Given the description of an element on the screen output the (x, y) to click on. 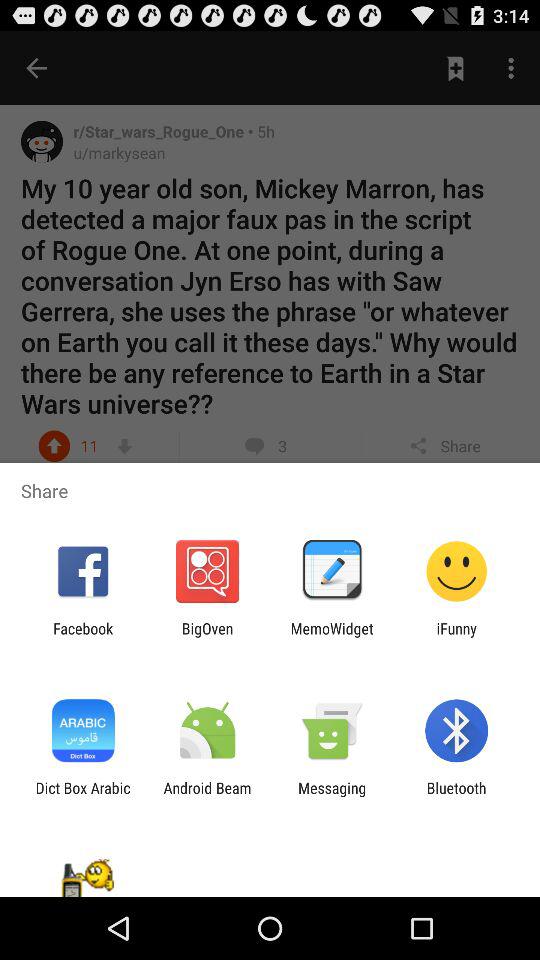
open icon to the right of facebook icon (207, 637)
